Given the description of an element on the screen output the (x, y) to click on. 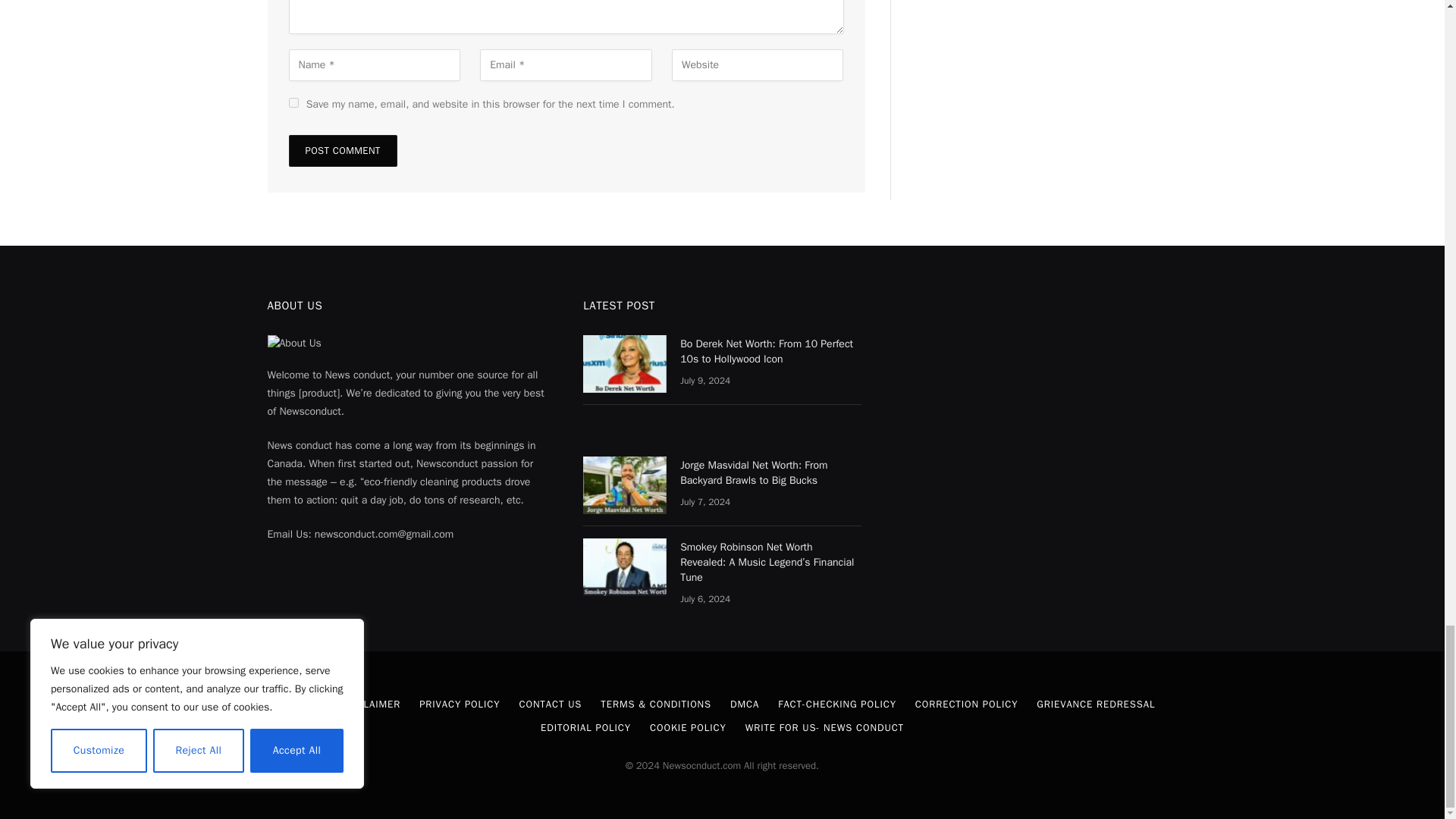
yes (293, 102)
Post Comment (342, 151)
